Given the description of an element on the screen output the (x, y) to click on. 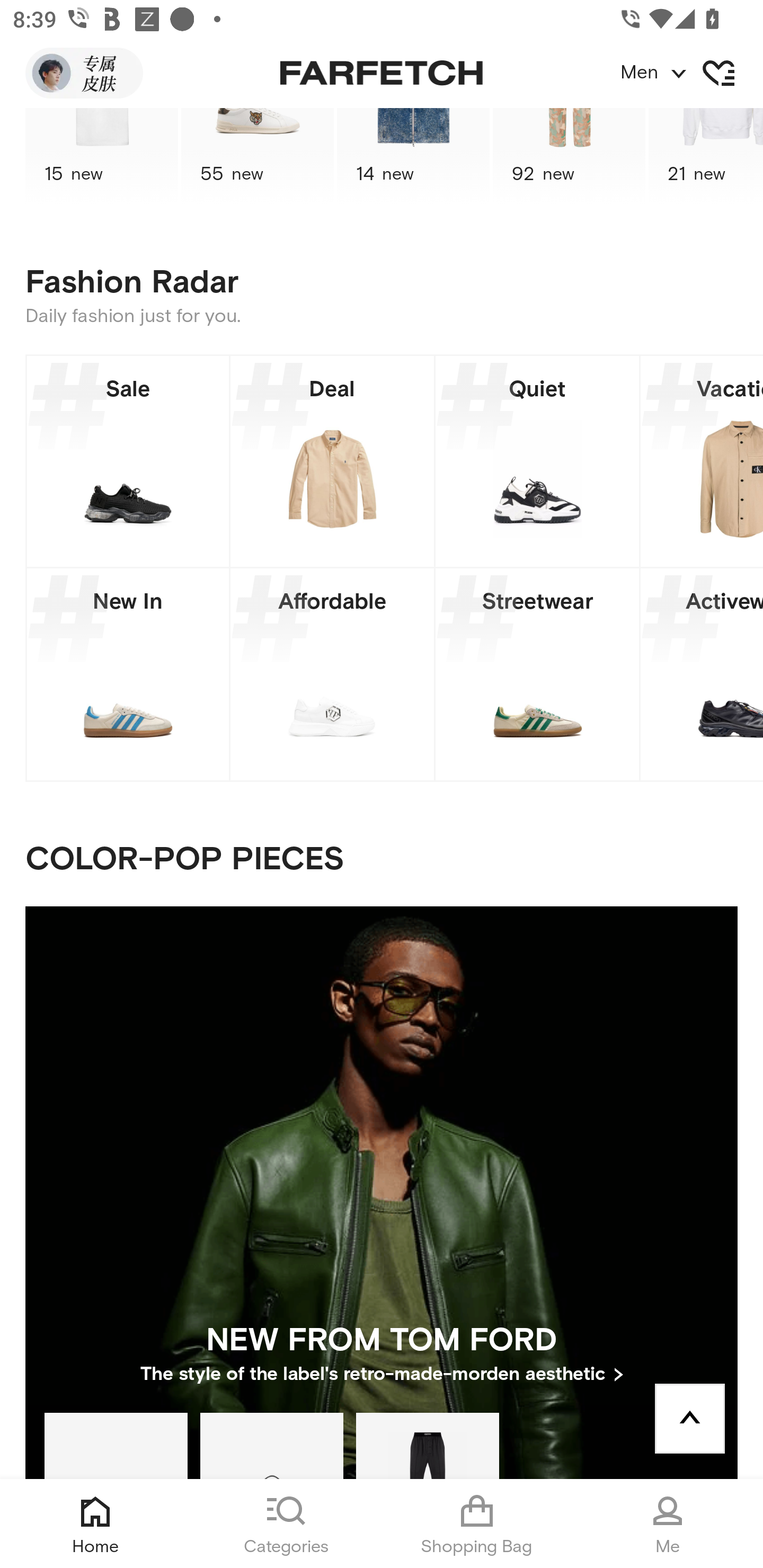
Men (691, 72)
15  new (101, 156)
55  new (257, 156)
14  new (413, 156)
92  new (568, 156)
21  new (705, 156)
Sale (127, 460)
Deal (332, 460)
Quiet (537, 460)
Vacation (701, 460)
New In (127, 673)
Affordable (332, 673)
Streetwear (537, 673)
Activewear (701, 673)
Categories (285, 1523)
Shopping Bag (476, 1523)
Me (667, 1523)
